Given the description of an element on the screen output the (x, y) to click on. 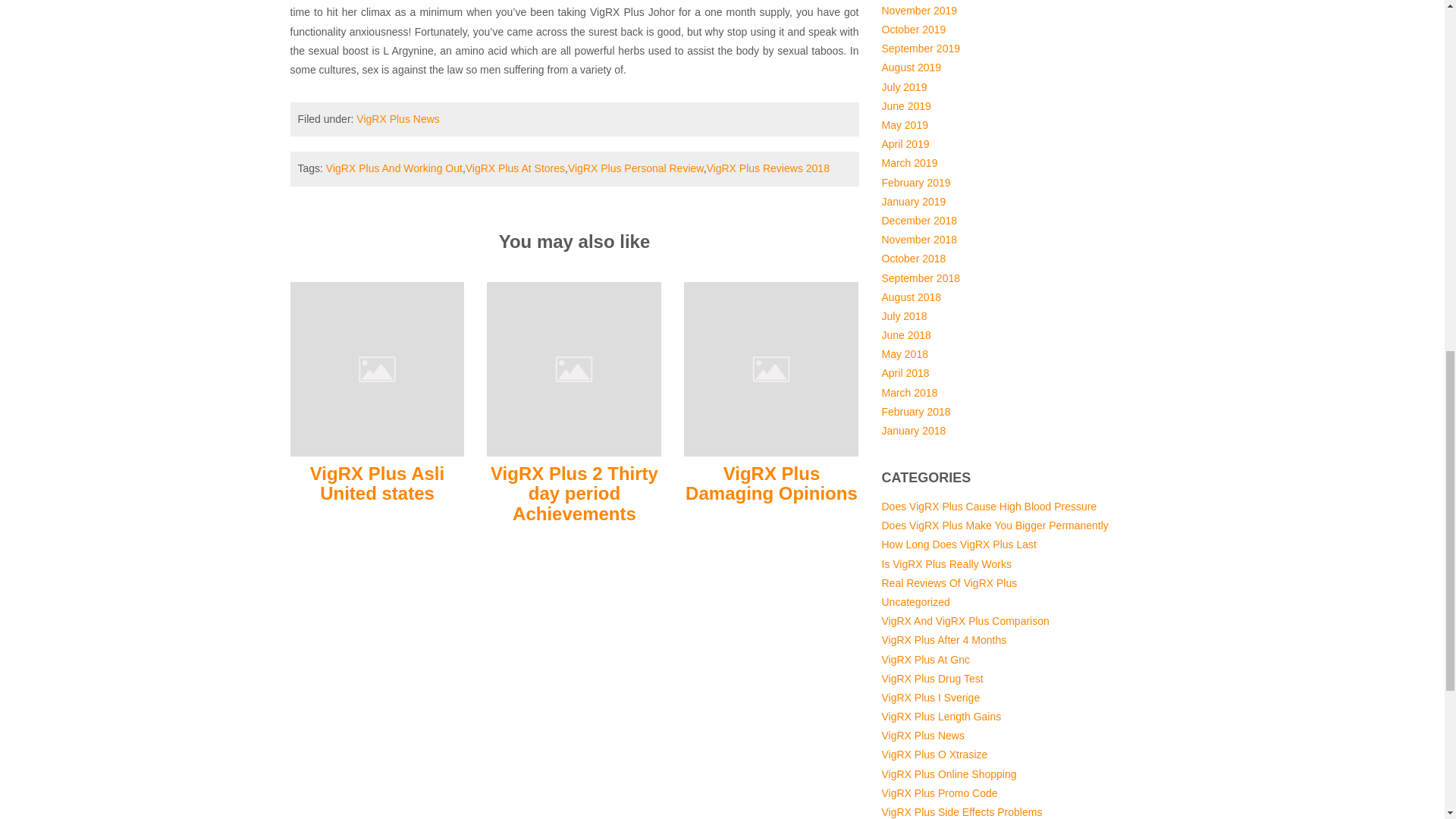
VigRX Plus Reviews 2018 (767, 168)
September 2019 (919, 48)
VigRX Plus Asli United states (376, 368)
VigRX Plus News (397, 119)
VigRX Plus Asli United states (377, 483)
VigRX Plus Damaging Opinions (771, 483)
VigRX Plus Damaging Opinions (771, 368)
November 2019 (918, 10)
July 2019 (903, 87)
VigRX Plus At Stores (514, 168)
VigRX Plus And Working Out (394, 168)
VigRX Plus 2 Thirty day period Achievements (574, 493)
VigRX Plus Personal Review (635, 168)
October 2019 (912, 29)
June 2019 (905, 105)
